Given the description of an element on the screen output the (x, y) to click on. 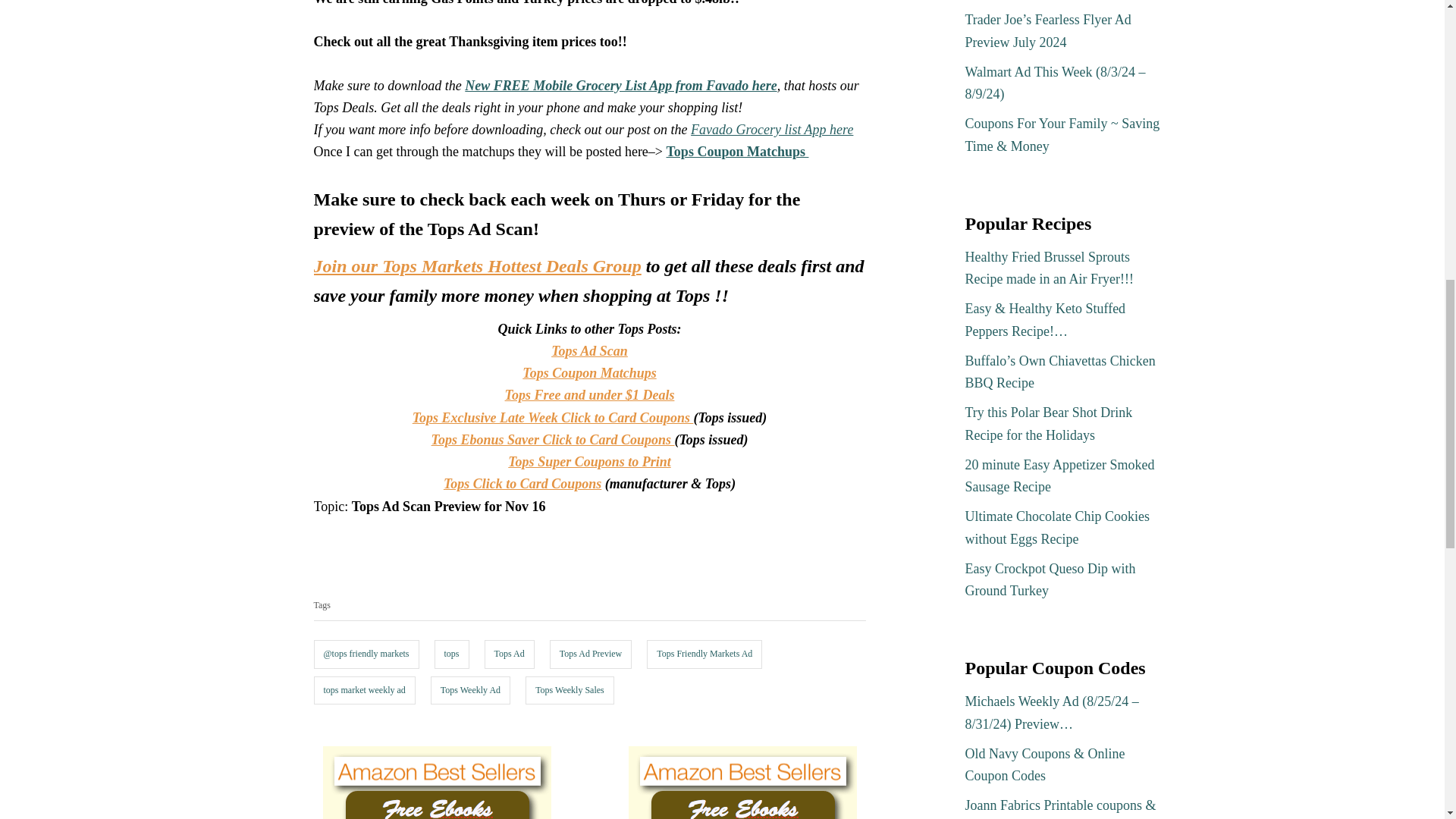
Favado Grocery List App (771, 129)
Tops Coupon Matchups (737, 151)
Tops Markets Hottest Deals (478, 266)
Tops Ad Scan (589, 350)
Grocery List (620, 84)
